Given the description of an element on the screen output the (x, y) to click on. 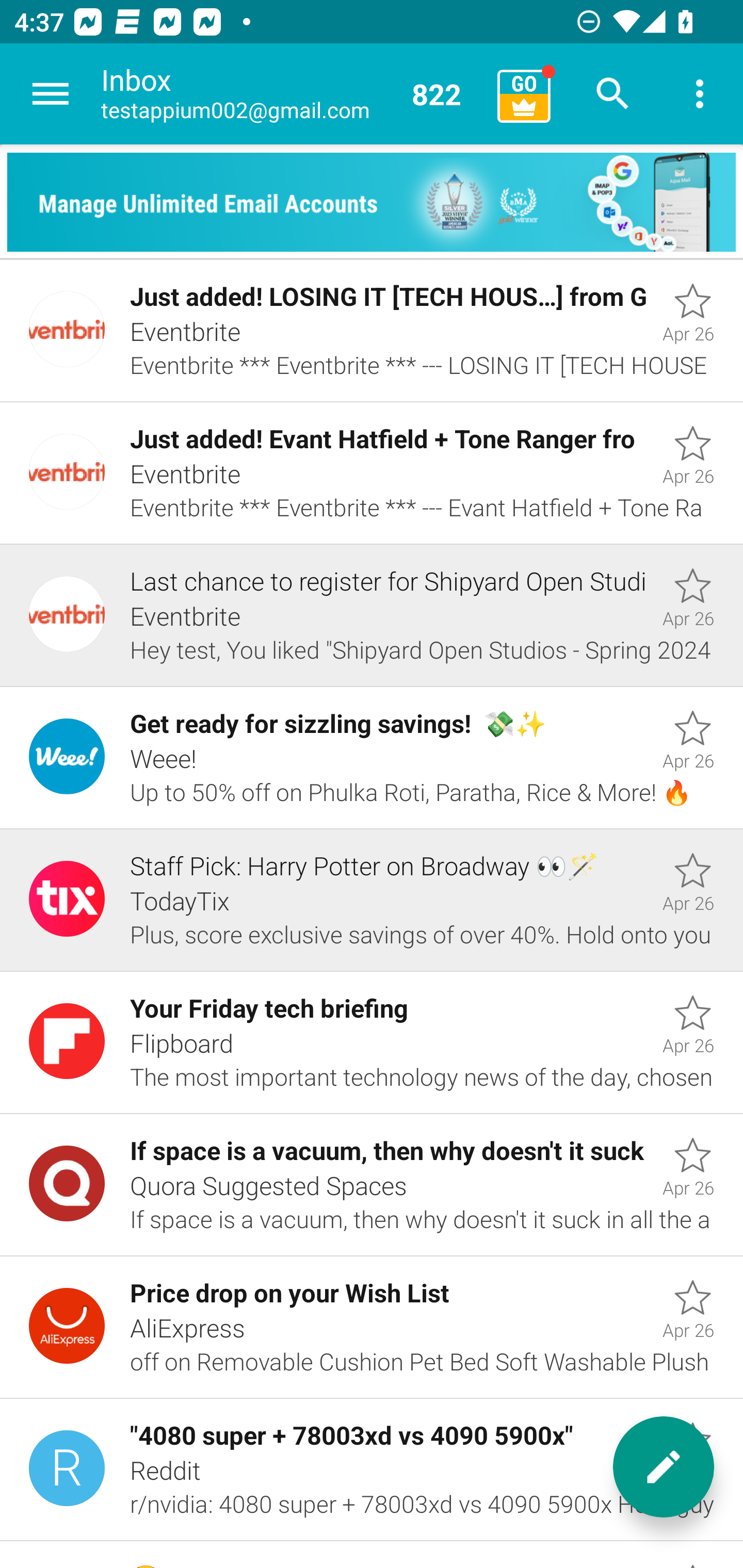
Navigate up (50, 93)
Inbox testappium002@gmail.com 822 (291, 93)
Search (612, 93)
More options (699, 93)
New message (663, 1466)
